Given the description of an element on the screen output the (x, y) to click on. 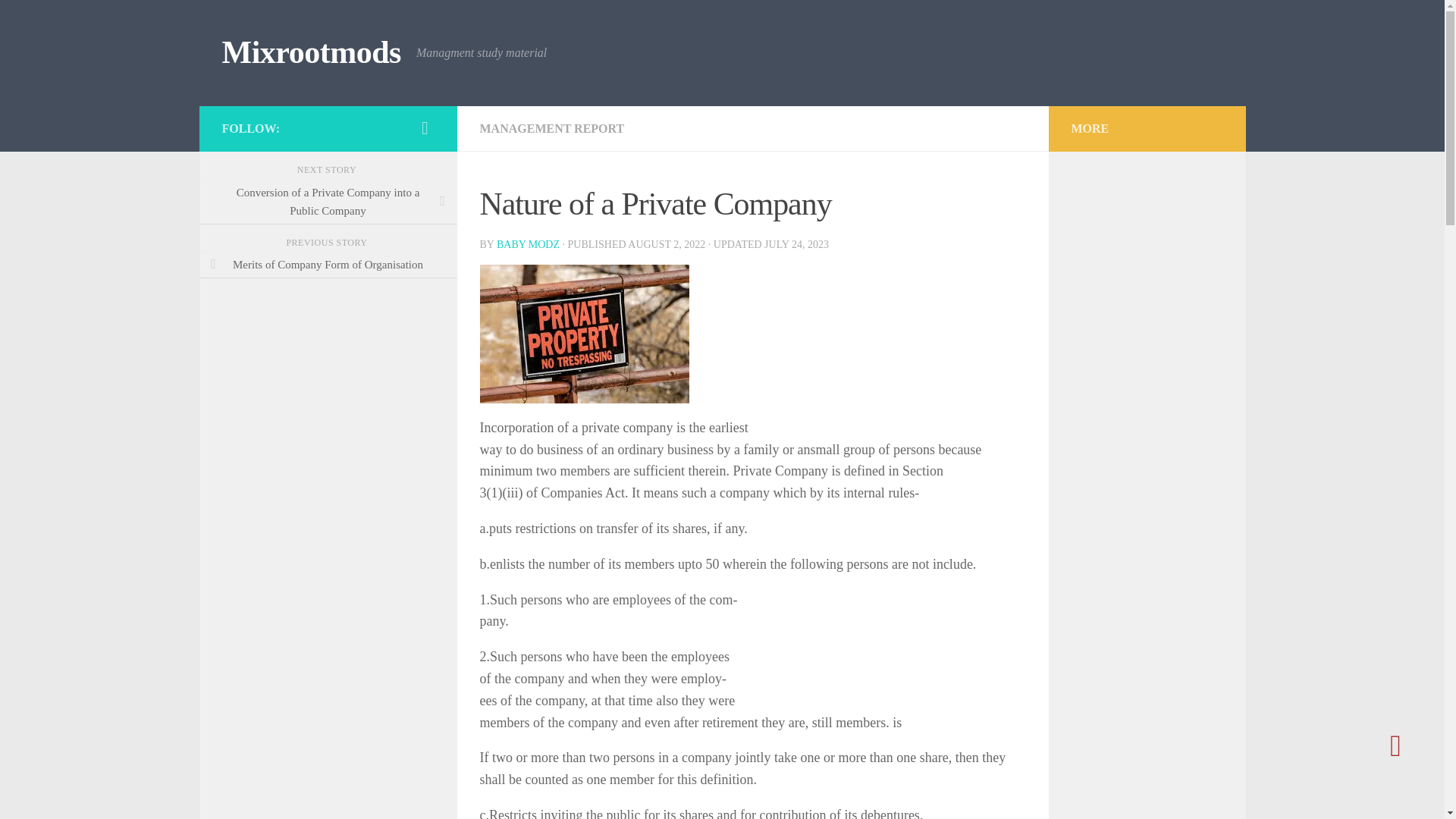
MANAGEMENT REPORT (551, 128)
Mixrootmods (310, 53)
Posts by Baby Modz (527, 244)
Merits of Company Form of Organisation (327, 265)
Conversion of a Private Company into a Public Company (327, 201)
Follow us on Twitter (423, 127)
BABY MODZ (527, 244)
Skip to content (59, 20)
